Given the description of an element on the screen output the (x, y) to click on. 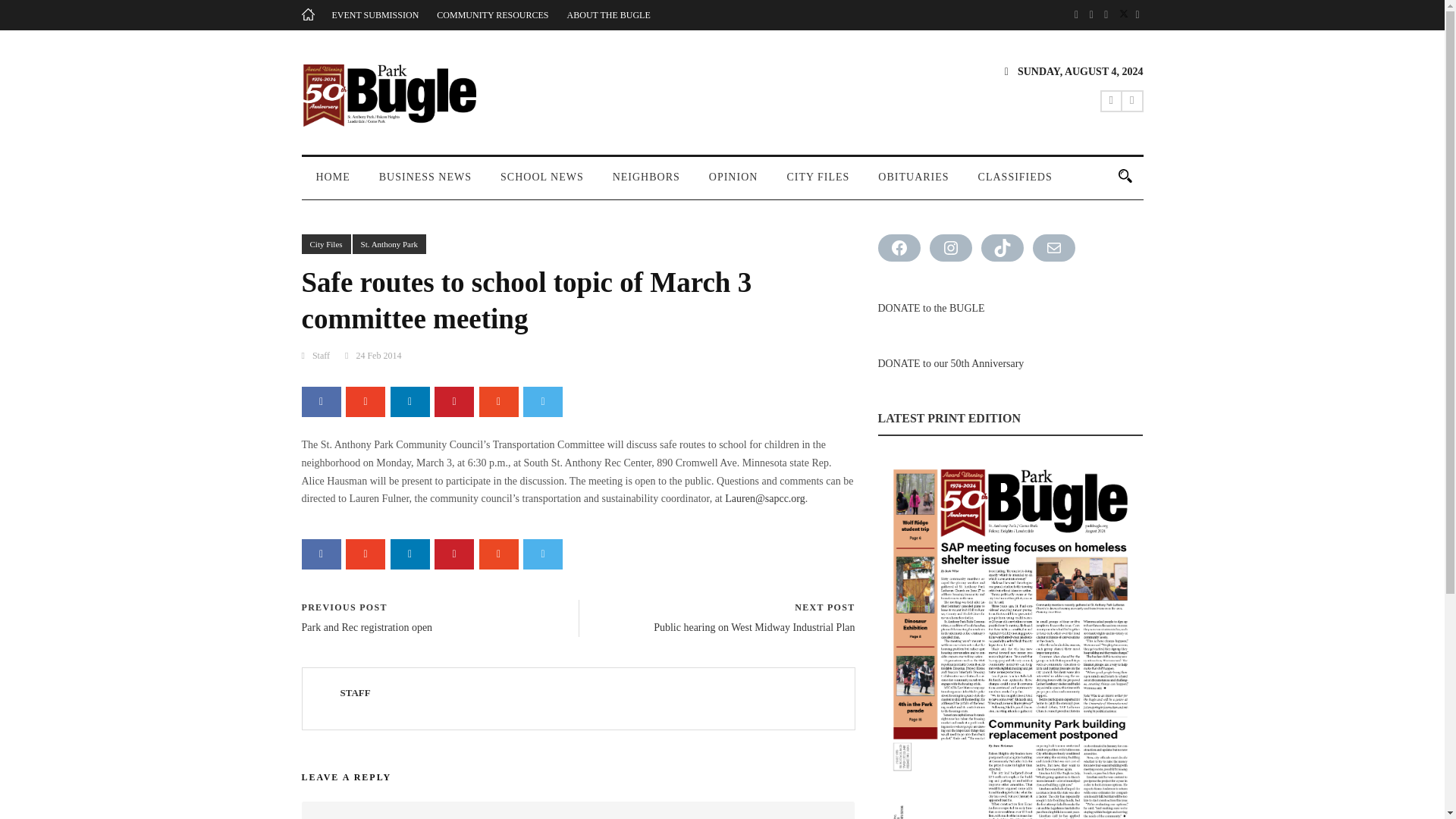
BUSINESS NEWS (425, 183)
NEIGHBORS (646, 183)
EVENT SUBMISSION (375, 15)
OPINION (733, 183)
Posts by Staff (354, 692)
ABOUT THE BUGLE (608, 15)
St. Anthony Park (389, 244)
OBITUARIES (912, 183)
City Files (325, 244)
HOME (333, 183)
COMMUNITY RESOURCES (492, 15)
CITY FILES (817, 183)
SCHOOL NEWS (542, 183)
Latest Print Edition (1009, 637)
CLASSIFIEDS (1015, 183)
